Given the description of an element on the screen output the (x, y) to click on. 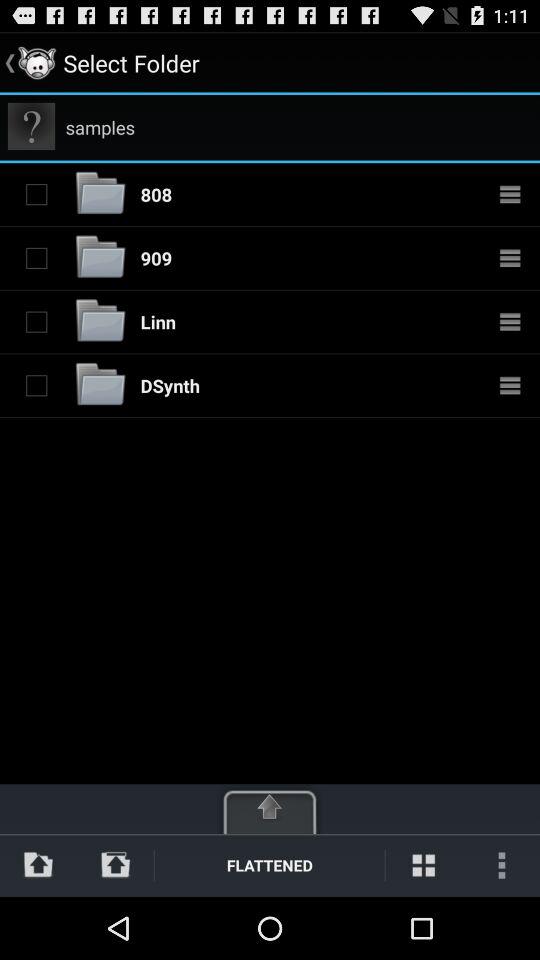
select folder (36, 385)
